Given the description of an element on the screen output the (x, y) to click on. 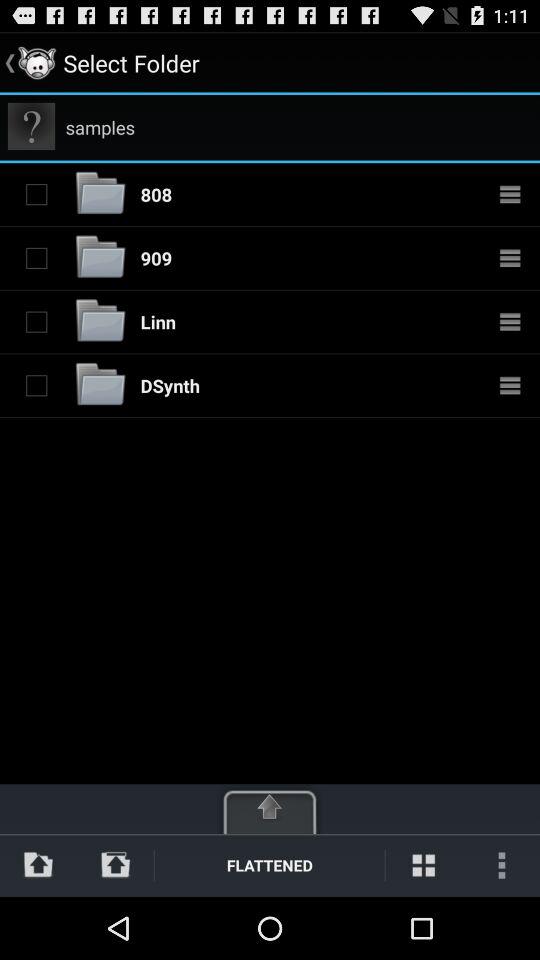
select folder (36, 385)
